Given the description of an element on the screen output the (x, y) to click on. 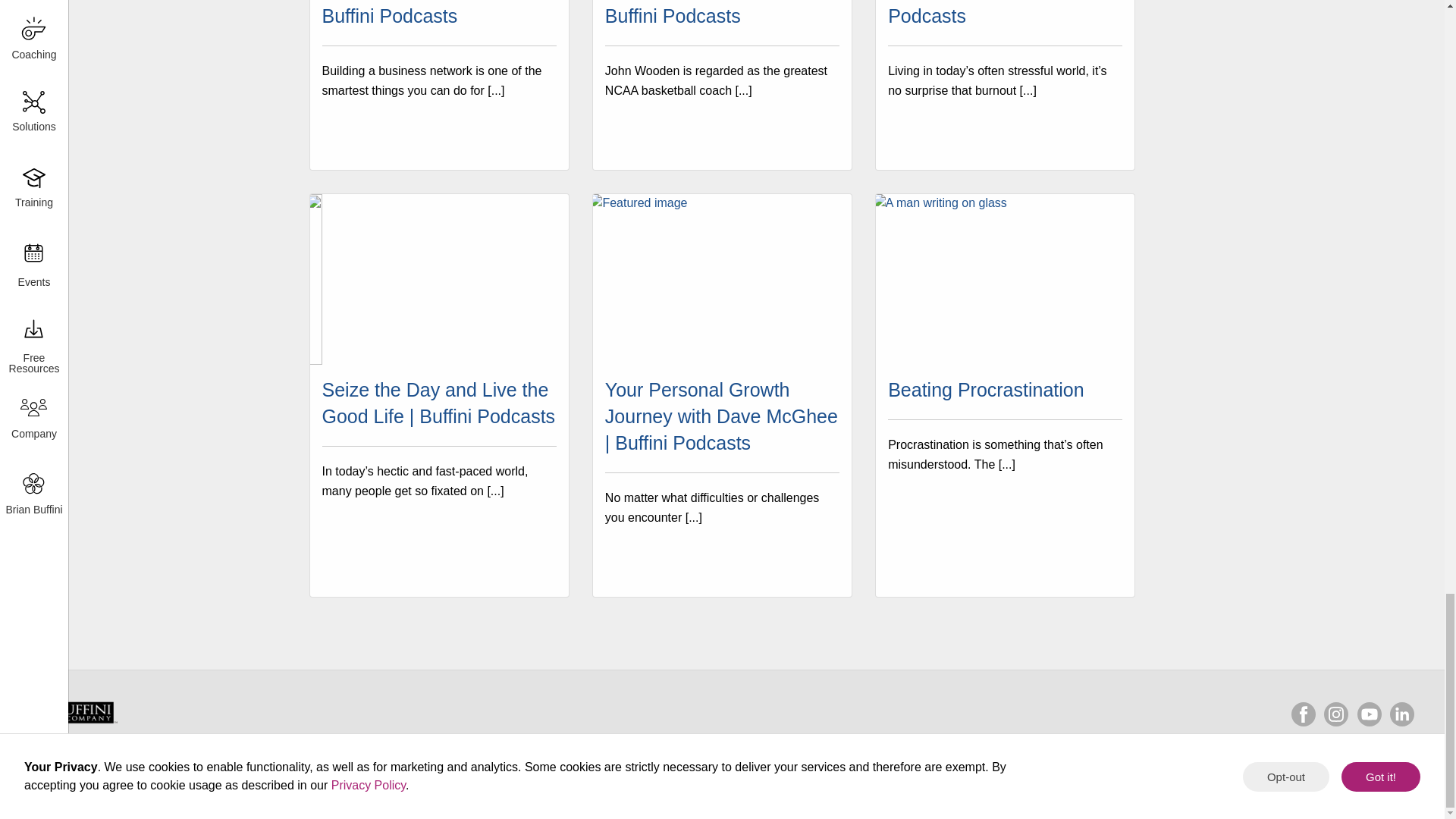
Instagram (1335, 713)
LinkedIn (1401, 713)
Facebook (1303, 713)
YouTube (1368, 713)
